Given the description of an element on the screen output the (x, y) to click on. 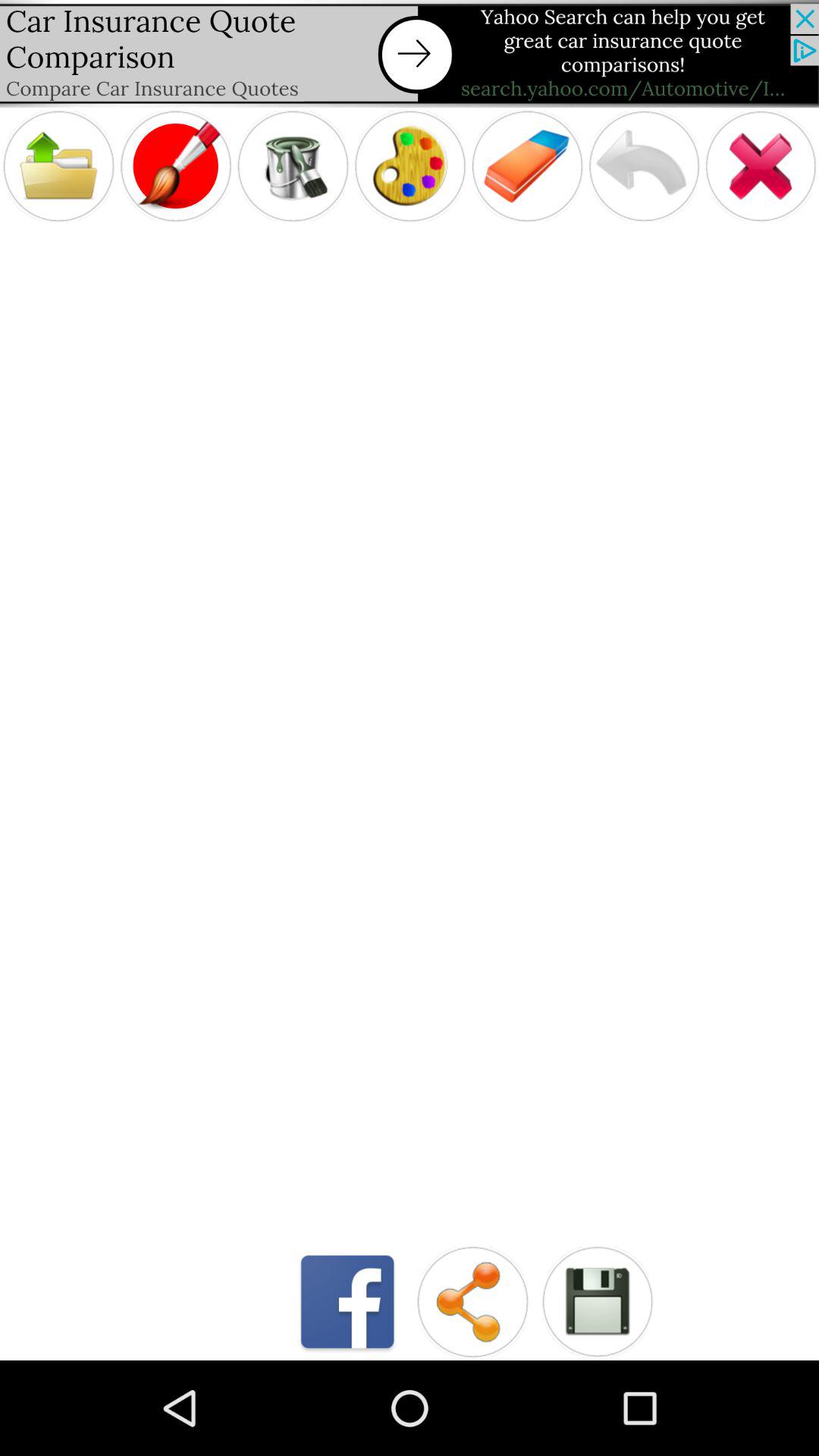
turn page left (643, 165)
